Given the description of an element on the screen output the (x, y) to click on. 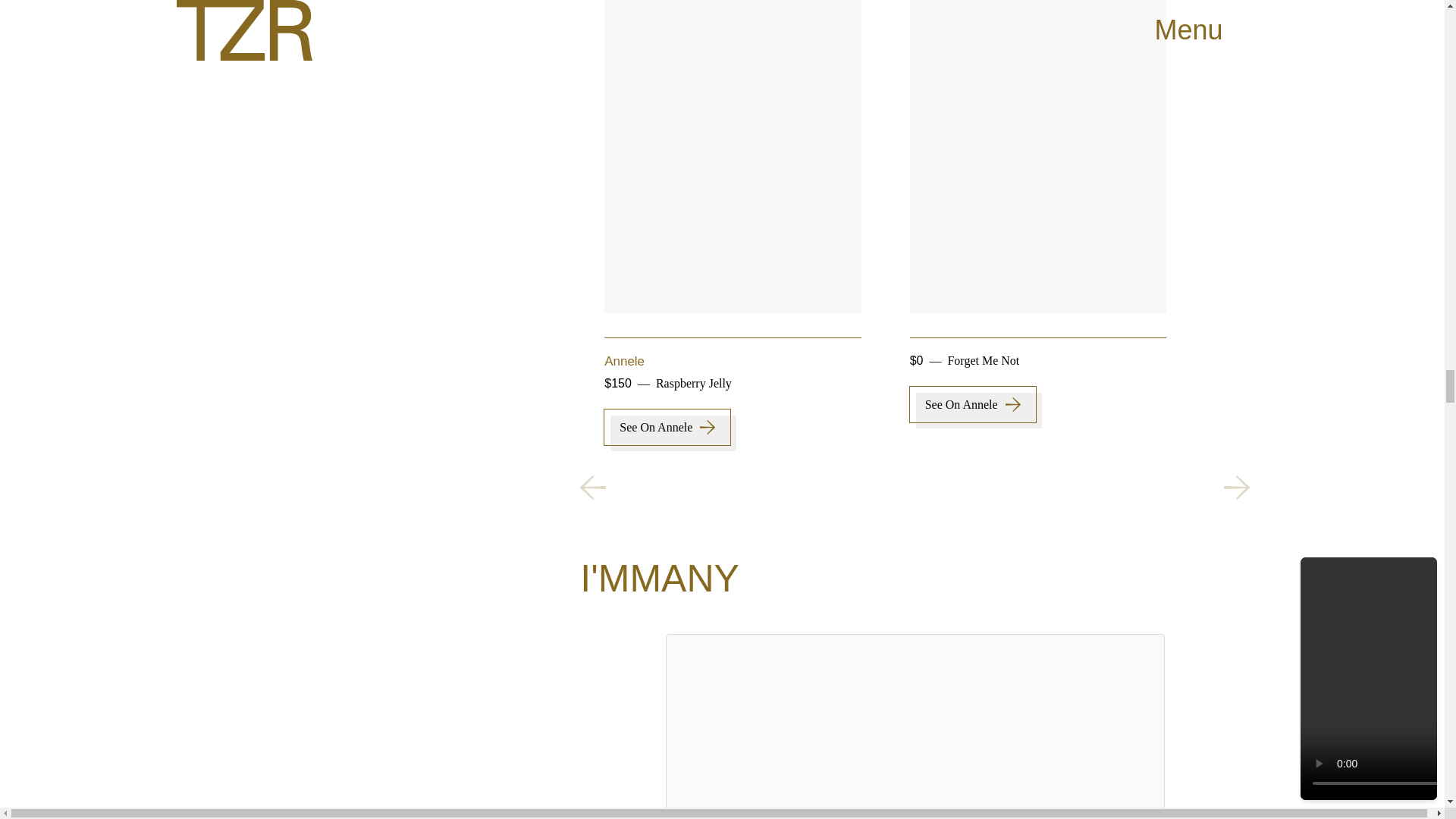
Previous page (592, 487)
View on Instagram (914, 812)
Next page (1236, 487)
